Given the description of an element on the screen output the (x, y) to click on. 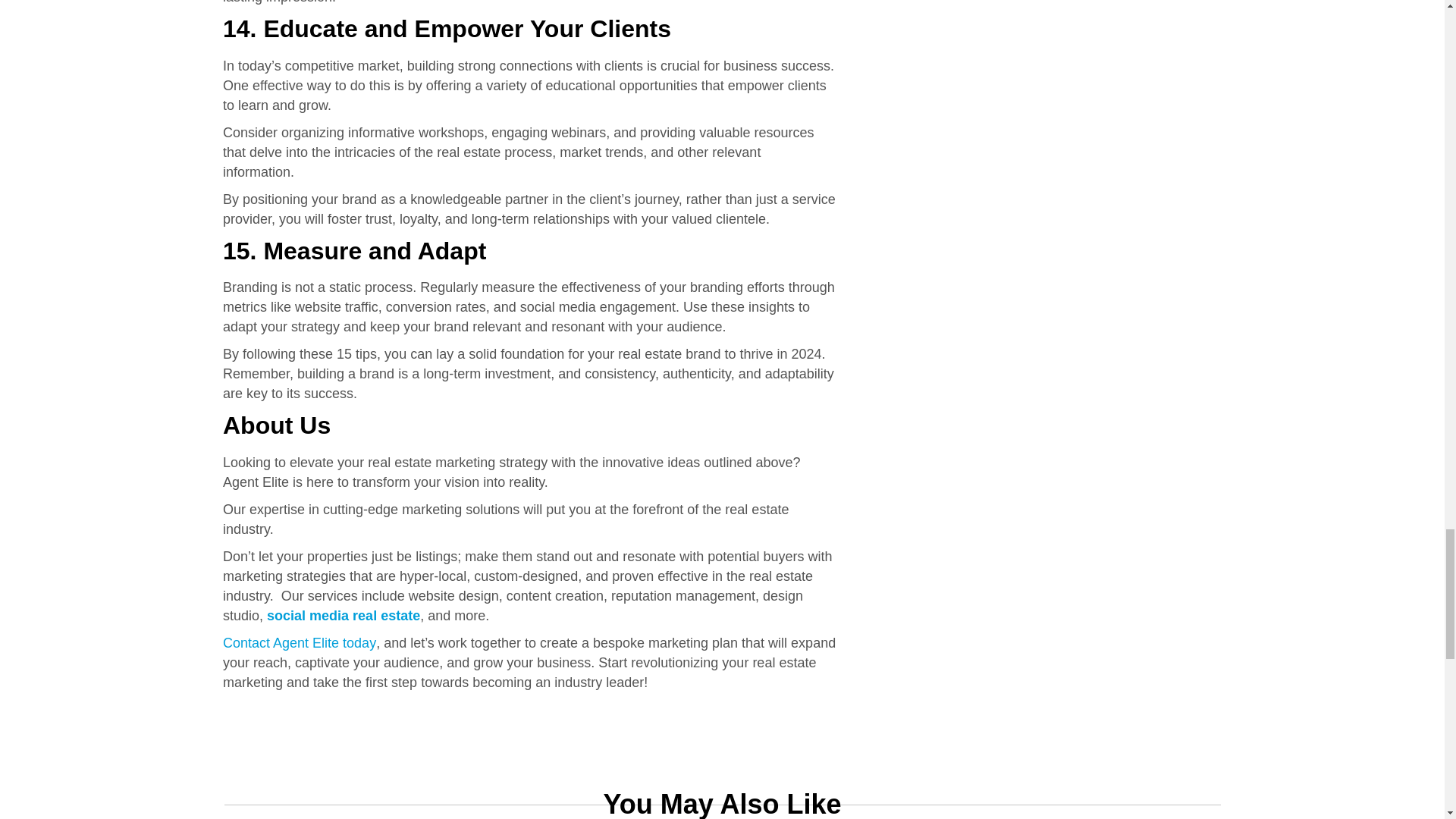
social media real estate (343, 615)
Contact Agent Elite today (298, 642)
